Given the description of an element on the screen output the (x, y) to click on. 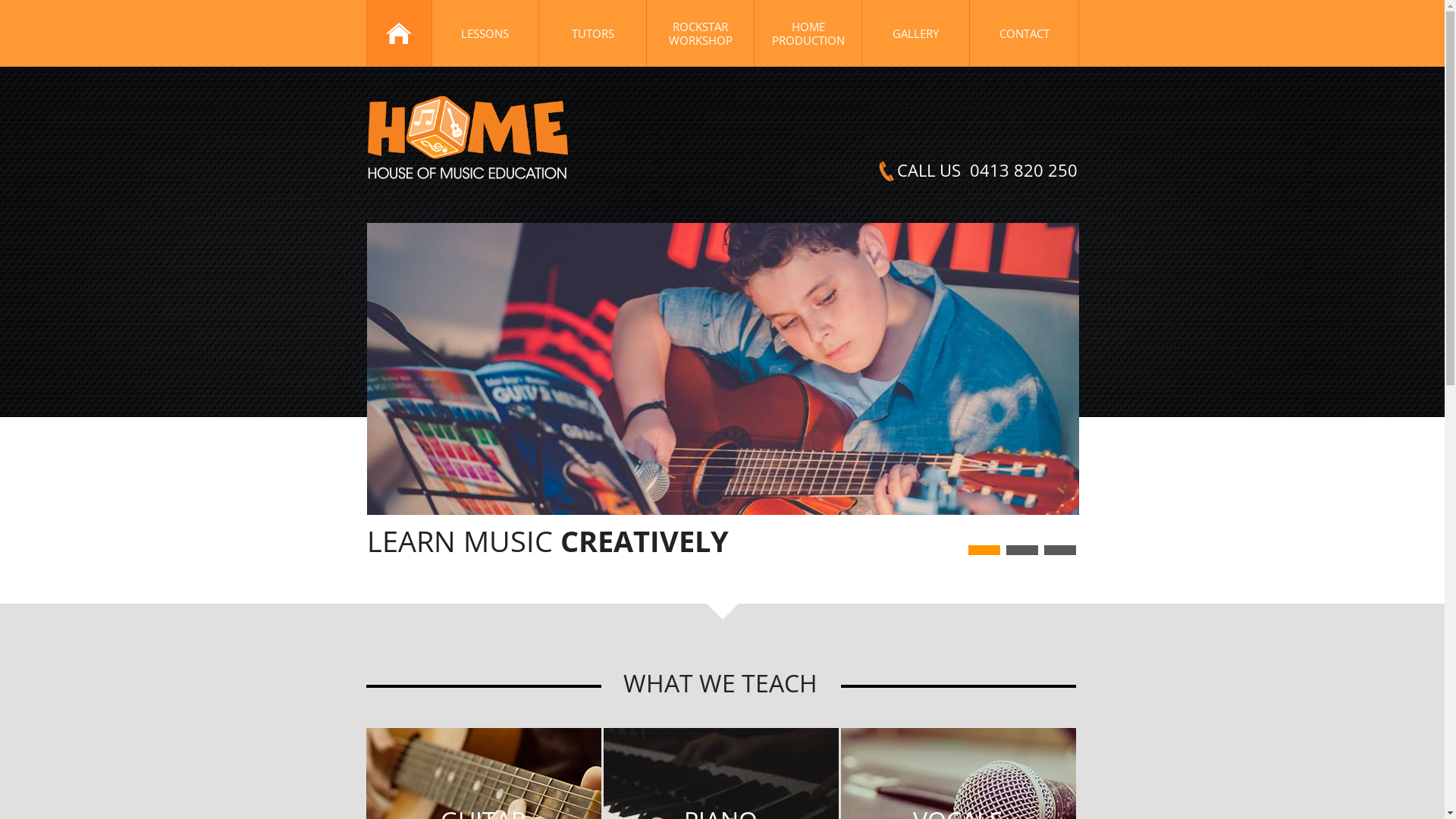
CONTACT Element type: text (1023, 33)
TUTORS Element type: text (592, 33)
ROCKSTAR WORKSHOP Element type: text (699, 33)
LESSONS Element type: text (484, 33)
HOME PRODUCTION Element type: text (807, 33)
GALLERY Element type: text (915, 33)
